Given the description of an element on the screen output the (x, y) to click on. 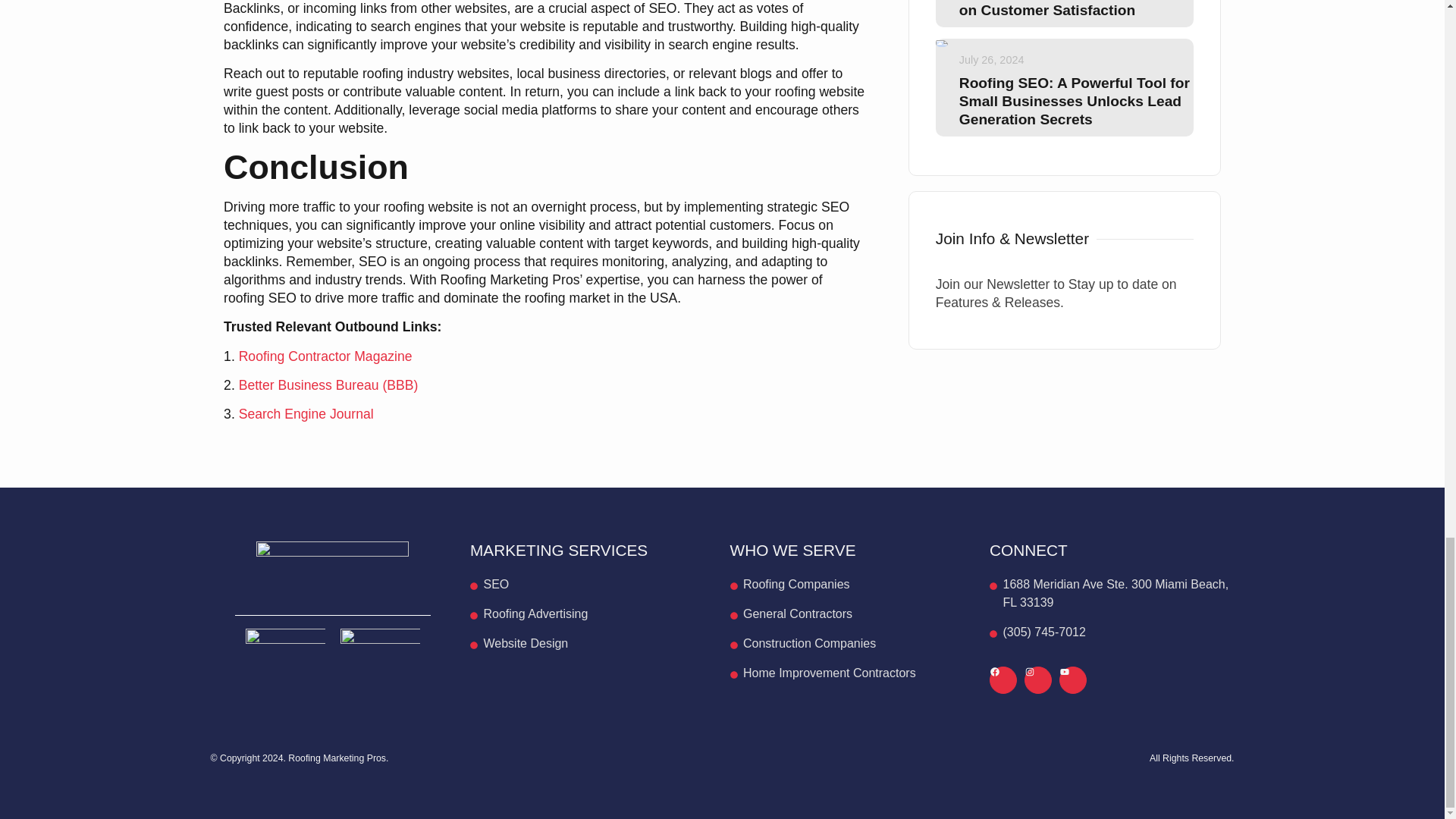
Search Engine Journal (306, 413)
Roofing Contractor Magazine (325, 355)
